Given the description of an element on the screen output the (x, y) to click on. 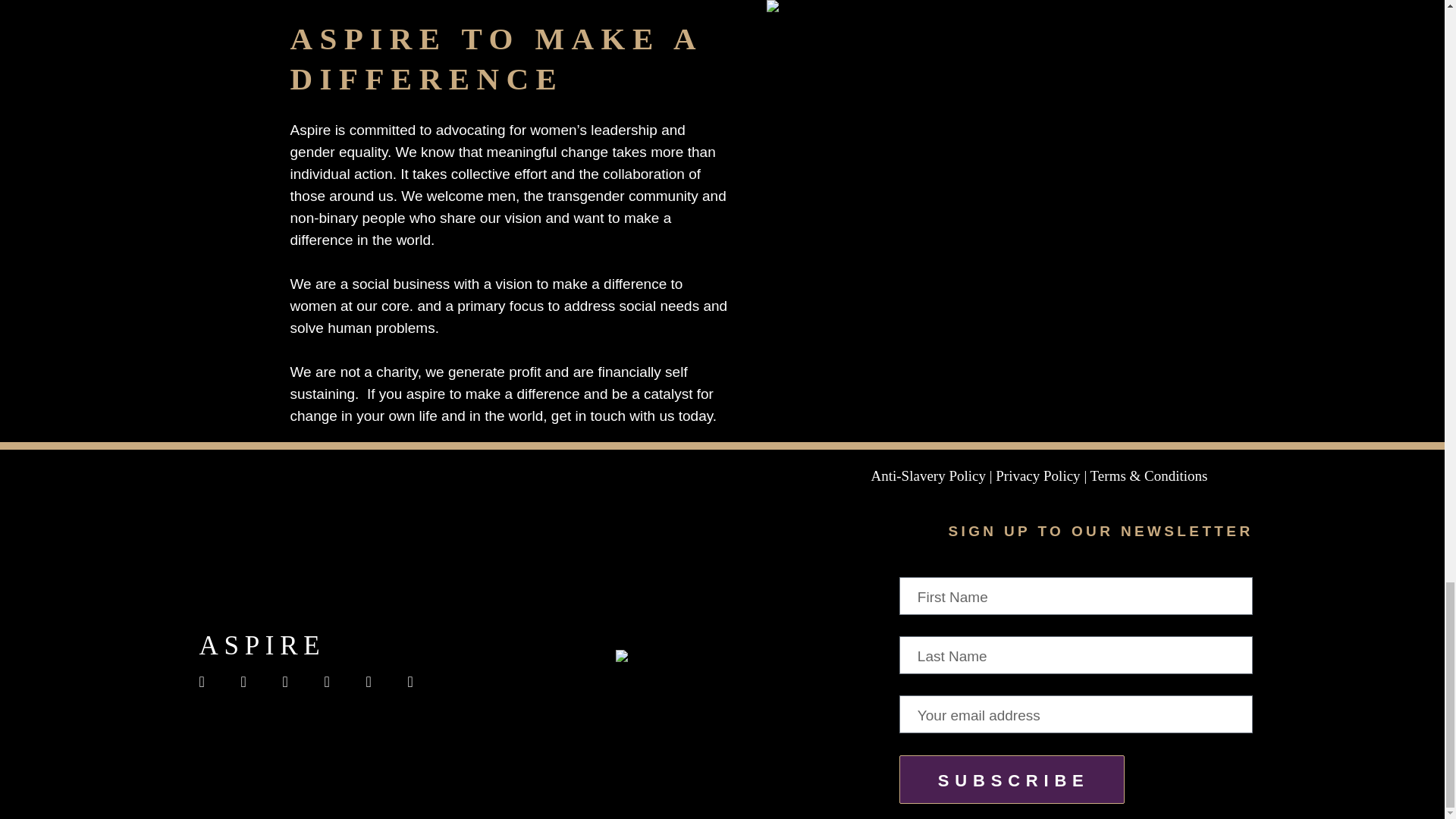
aspire-homepage-call-to-gather (721, 660)
